Given the description of an element on the screen output the (x, y) to click on. 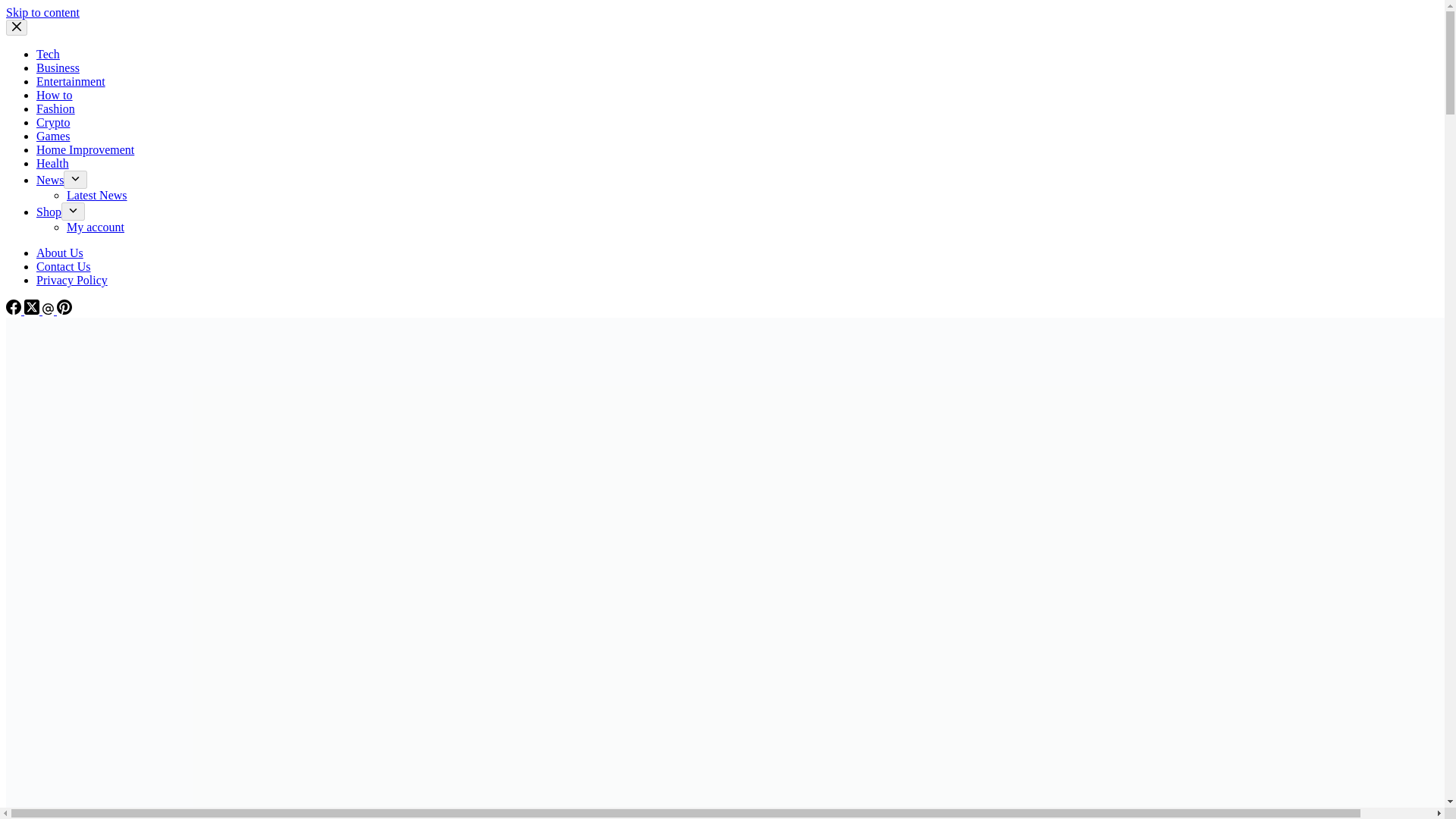
Business (58, 67)
Games (52, 135)
Entertainment (70, 81)
Shop (48, 211)
Latest News (97, 195)
Health (52, 163)
Home Improvement (84, 149)
Privacy Policy (71, 279)
About Us (59, 252)
News (50, 179)
My account (94, 226)
Fashion (55, 108)
Skip to content (42, 11)
Contact Us (63, 266)
Crypto (52, 122)
